Given the description of an element on the screen output the (x, y) to click on. 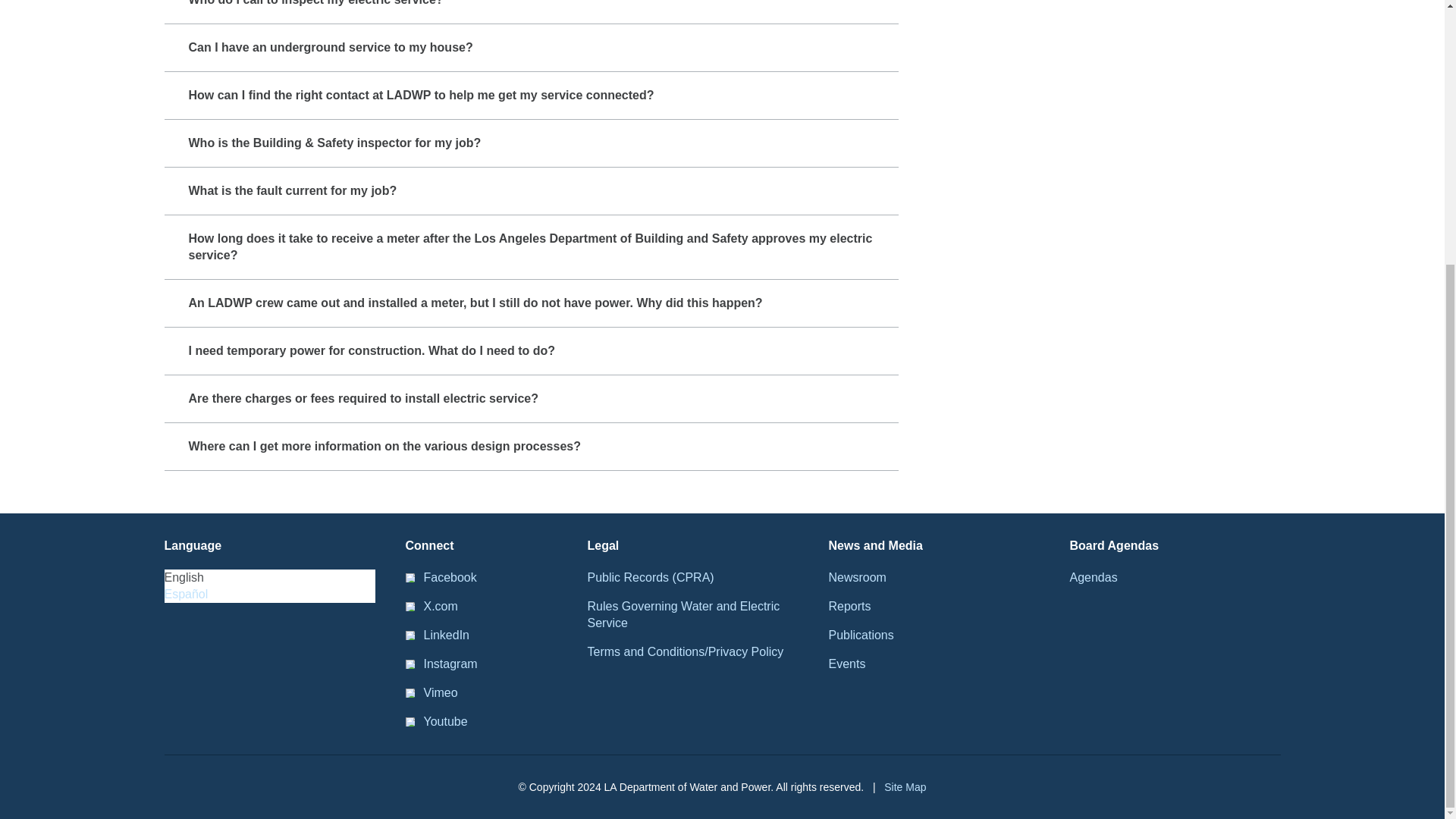
footer-icon-linkedin.svg (408, 634)
Twitter Logo.svg (408, 605)
footer-icon-facebook (408, 577)
Reports (849, 606)
Legal (602, 545)
footer-icon-instagram.svg (408, 664)
News and media (874, 545)
Sitemap (904, 787)
footer-icon-vimeo.svg (408, 692)
footer-icon-youtube.svg (408, 721)
